Given the description of an element on the screen output the (x, y) to click on. 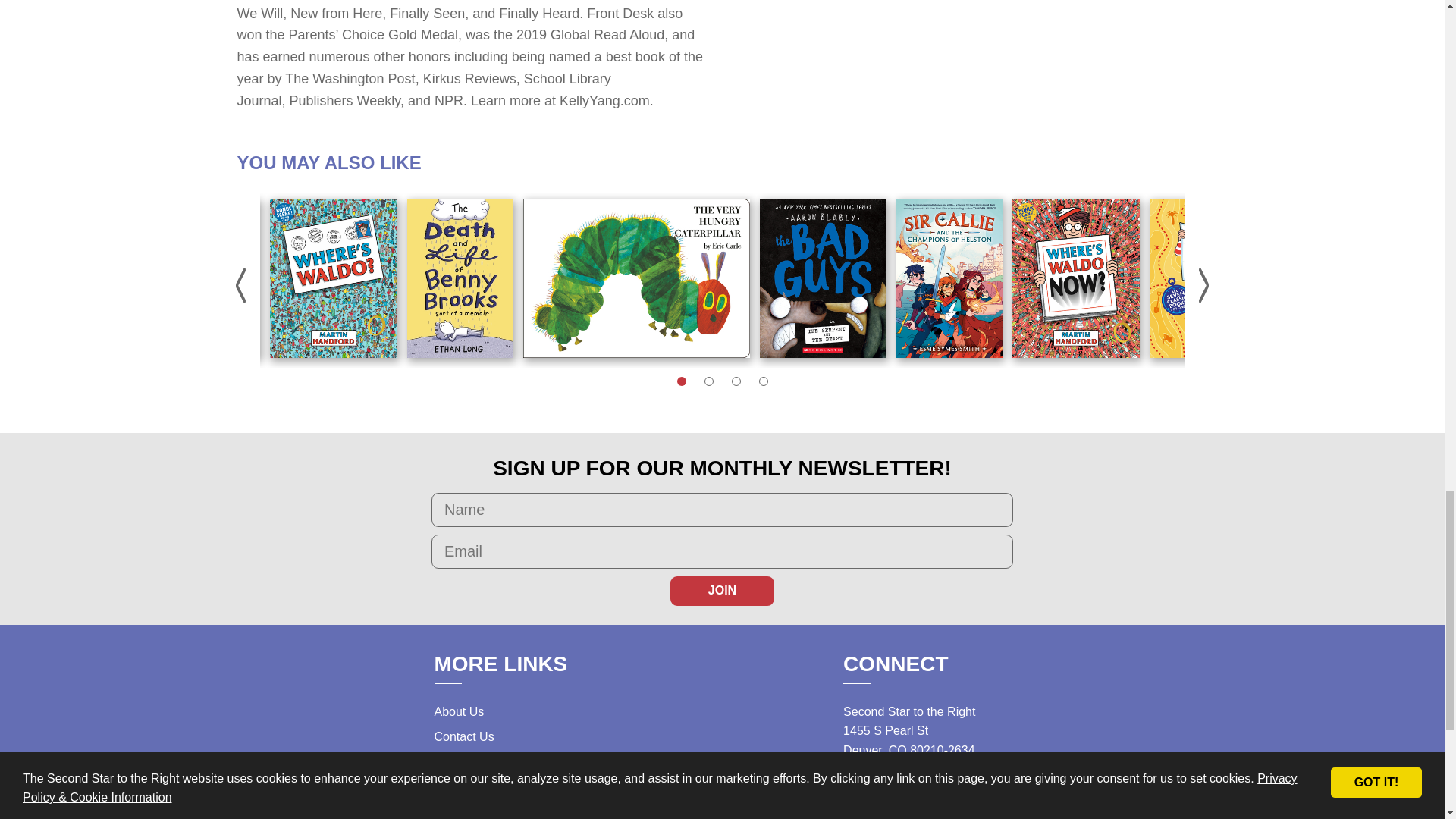
Join (721, 590)
